Given the description of an element on the screen output the (x, y) to click on. 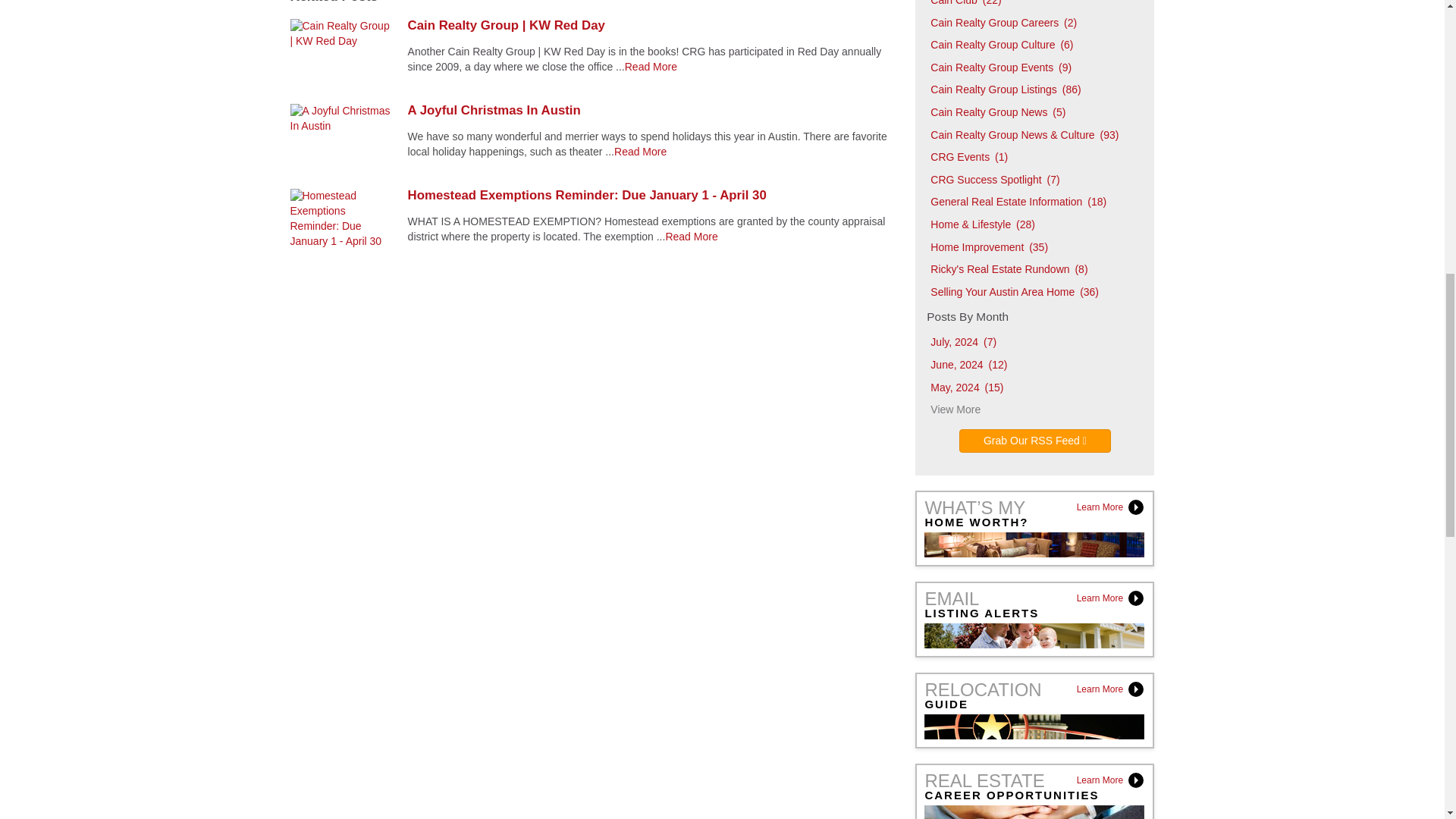
Homestead Exemptions Reminder: Due January 1 - April 30 (650, 195)
Real Estate Gets a Parade in Austin (640, 151)
A Joyful Christmas In Austin (650, 110)
Real Estate Gets a Parade in Austin (691, 236)
Real Estate Gets a Parade in Austin (650, 66)
